Given the description of an element on the screen output the (x, y) to click on. 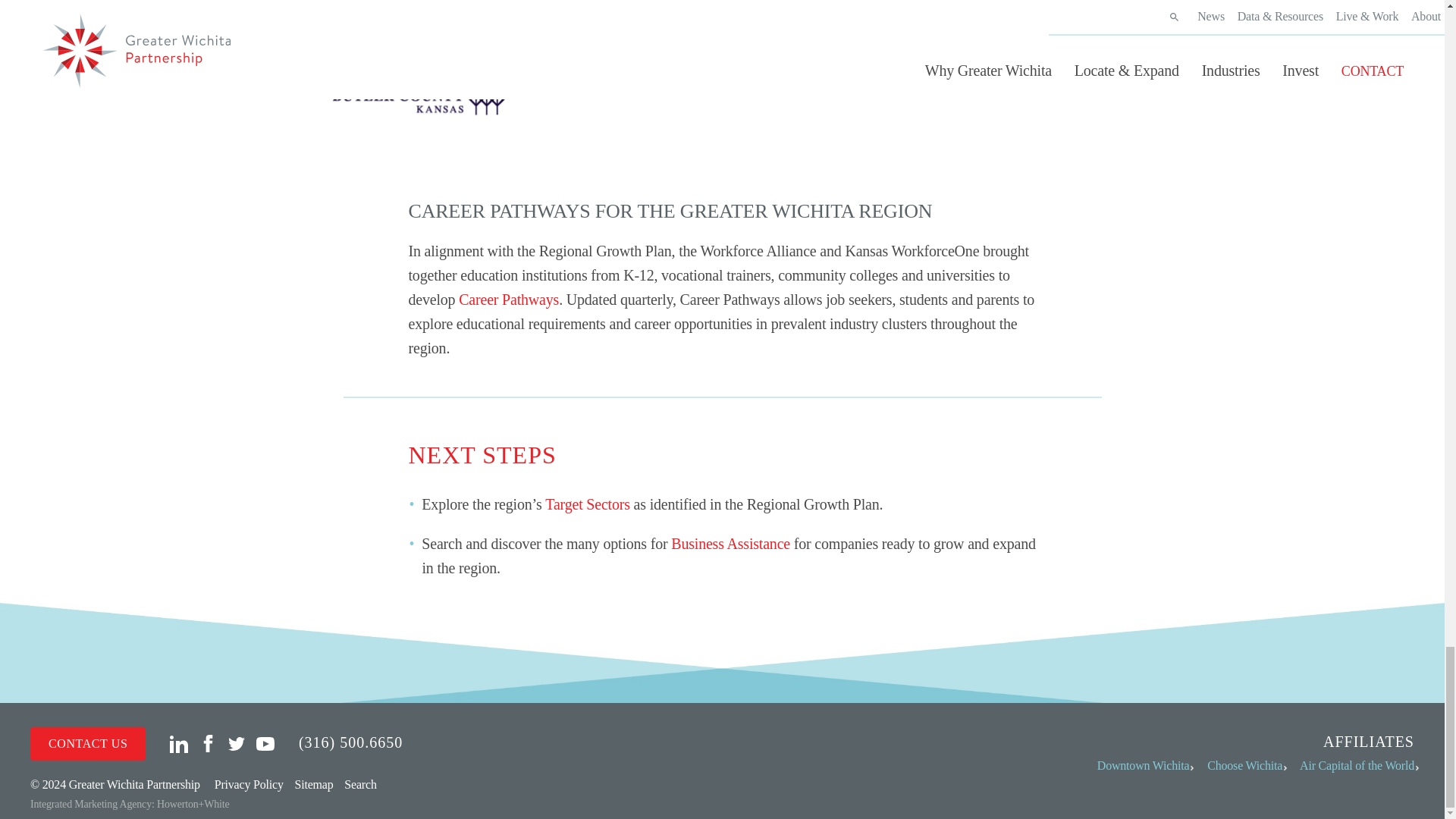
LinkedIn (178, 741)
Facebook (207, 741)
